Given the description of an element on the screen output the (x, y) to click on. 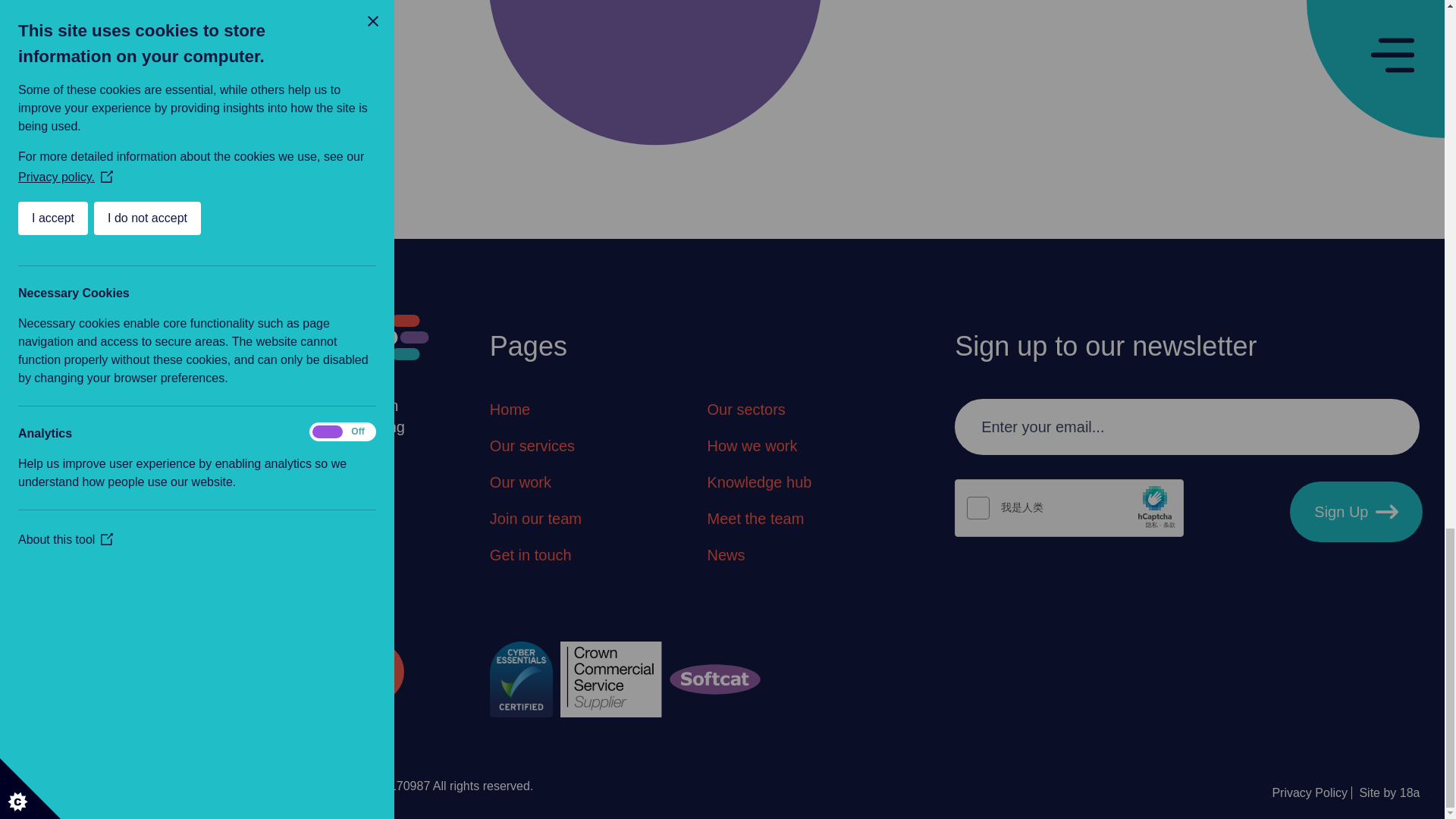
Sign Up (1356, 511)
Our services (532, 445)
Privacy Policy (1313, 792)
Site by 18a (1388, 792)
Join our team (534, 518)
Our work (520, 482)
News (725, 554)
Our sectors (745, 409)
Get in touch (530, 554)
Email us (331, 671)
